Given the description of an element on the screen output the (x, y) to click on. 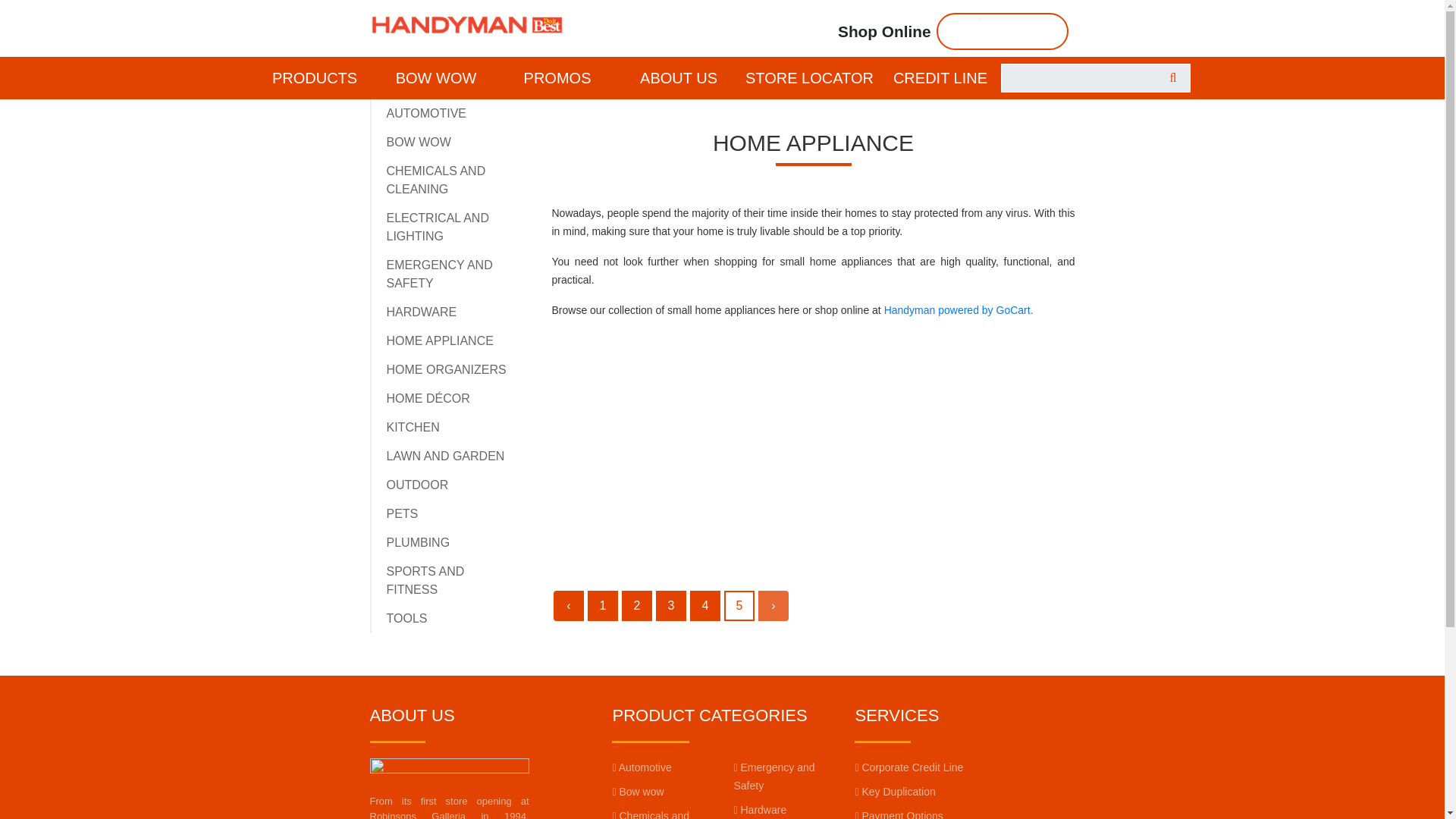
PETS (403, 513)
TOOLS (407, 617)
PRODUCTS (314, 77)
EMERGENCY AND SAFETY (440, 273)
LAWN AND GARDEN (446, 455)
4 (705, 605)
CREDIT LINE (940, 77)
STORE LOCATOR (809, 77)
HOME ORGANIZERS (446, 369)
BOW WOW (419, 141)
HARDWARE (422, 311)
CHEMICALS AND CLEANING (436, 179)
KITCHEN (413, 427)
AUTOMOTIVE (427, 113)
Handyman powered by GoCart. (958, 309)
